Given the description of an element on the screen output the (x, y) to click on. 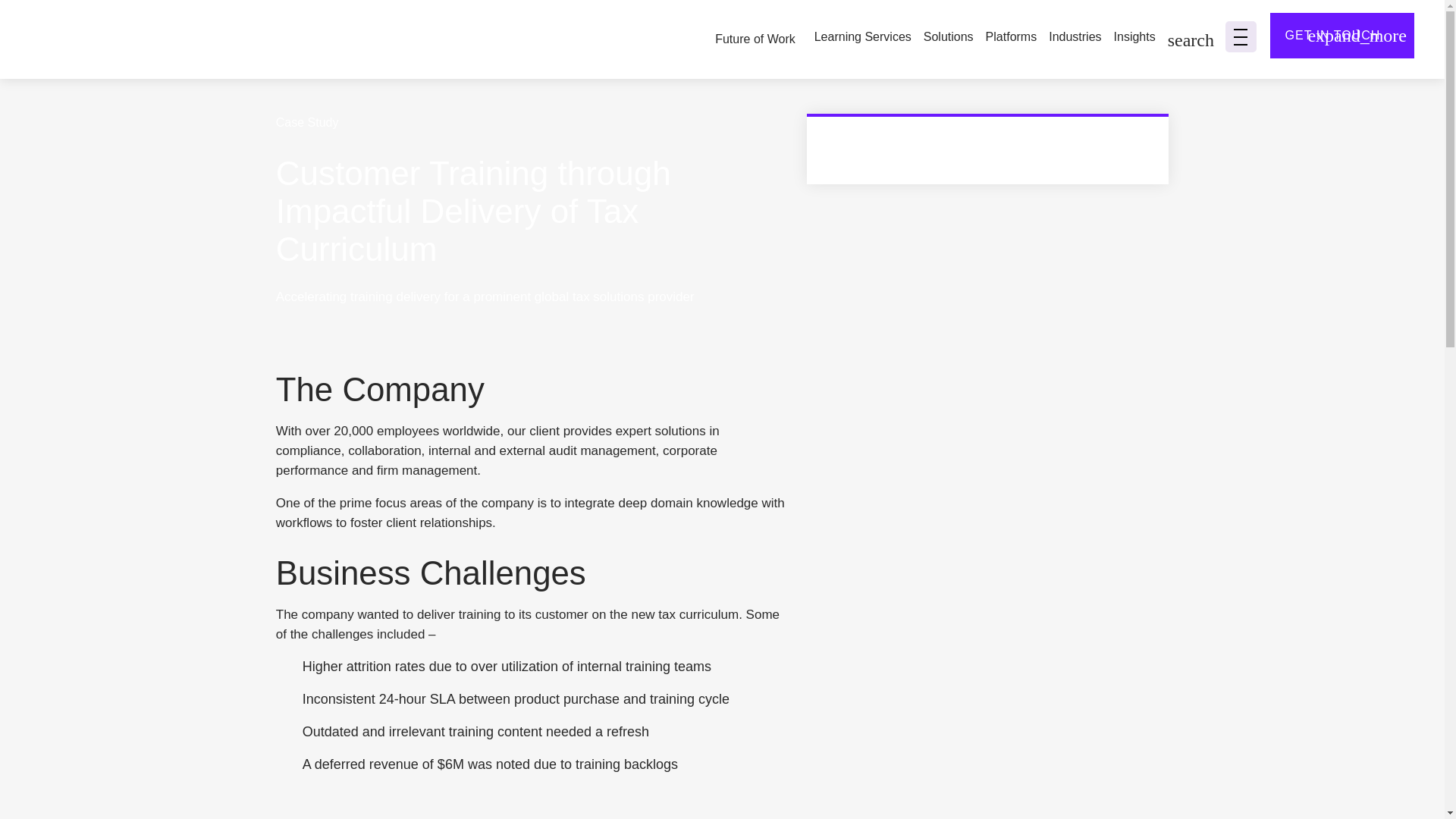
Future of Work (754, 38)
Platforms (1010, 37)
Learning Services (862, 37)
Solutions (948, 37)
